Given the description of an element on the screen output the (x, y) to click on. 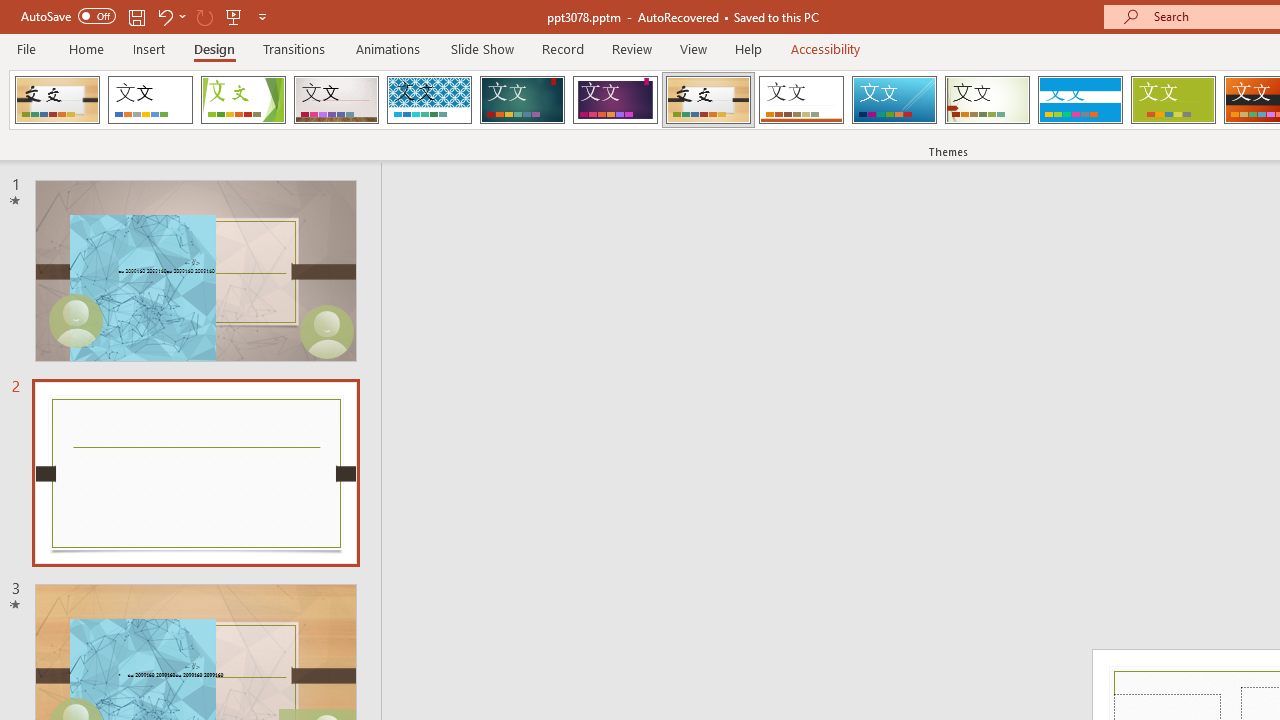
Wisp (987, 100)
Banded (1080, 100)
Slice (893, 100)
Integral (429, 100)
Dividend (57, 100)
Gallery (336, 100)
